Given the description of an element on the screen output the (x, y) to click on. 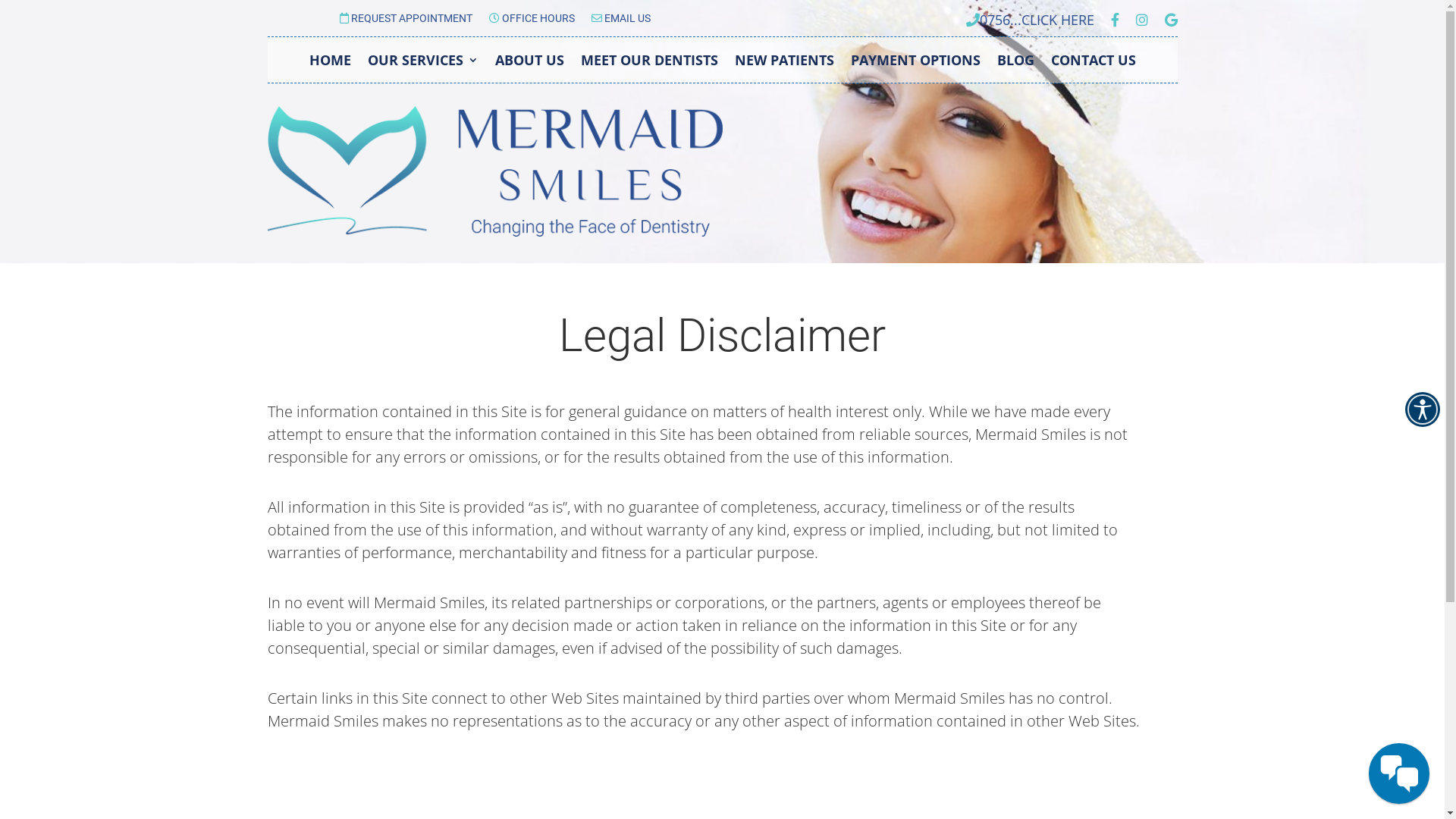
PAYMENT OPTIONS Element type: text (915, 62)
NEW PATIENTS Element type: text (783, 62)
REQUEST APPOINTMENT Element type: text (405, 20)
MEET OUR DENTISTS Element type: text (649, 62)
ABOUT US Element type: text (528, 62)
OUR SERVICES Element type: text (422, 62)
HOME Element type: text (330, 62)
BLOG Element type: text (1014, 62)
0756...CLICK HERE Element type: text (1030, 22)
OFFICE HOURS Element type: text (531, 20)
CONTACT US Element type: text (1093, 62)
EMAIL US Element type: text (620, 20)
